Given the description of an element on the screen output the (x, y) to click on. 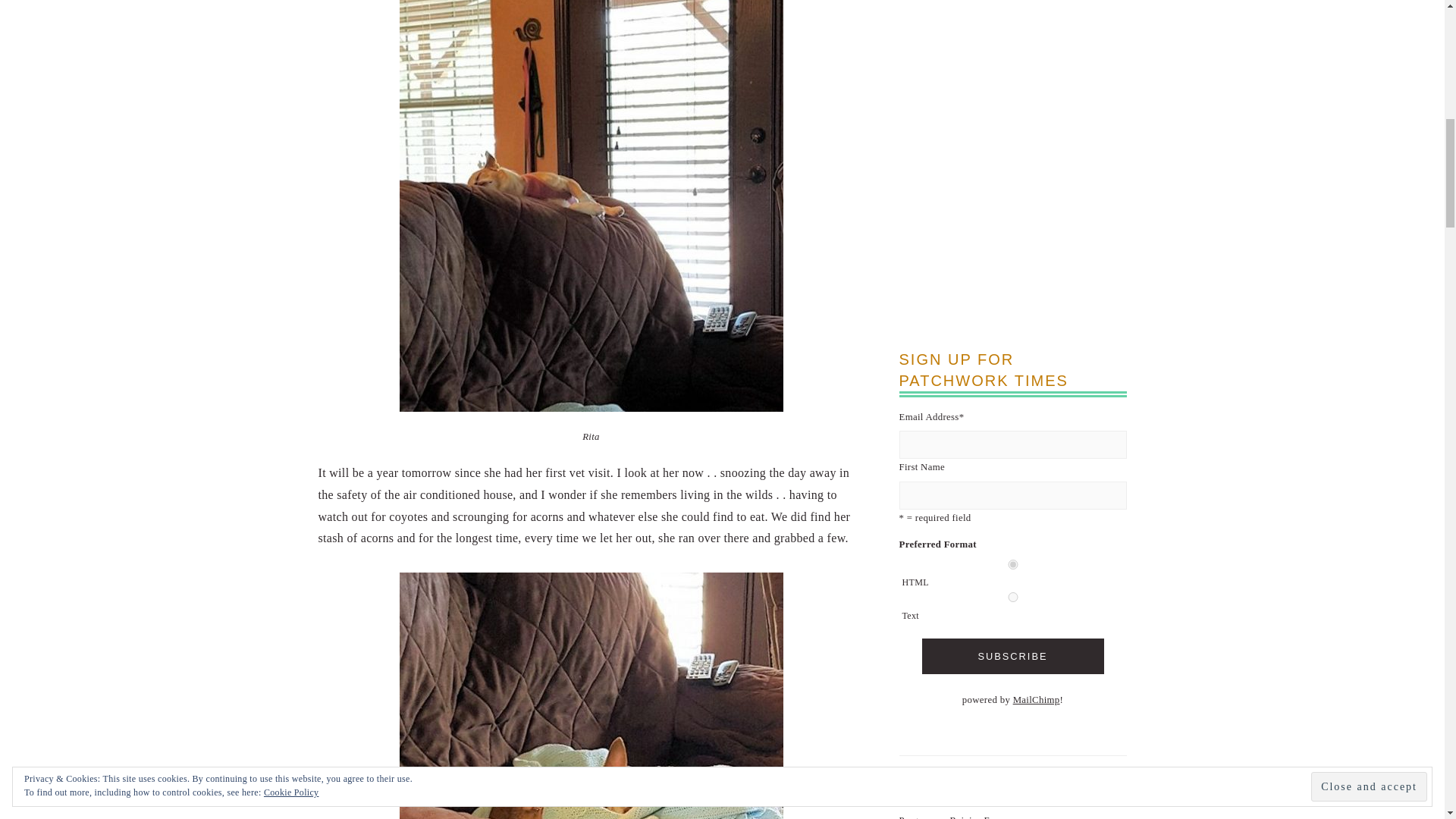
text (1012, 596)
Subscribe (1012, 656)
html (1012, 564)
